Given the description of an element on the screen output the (x, y) to click on. 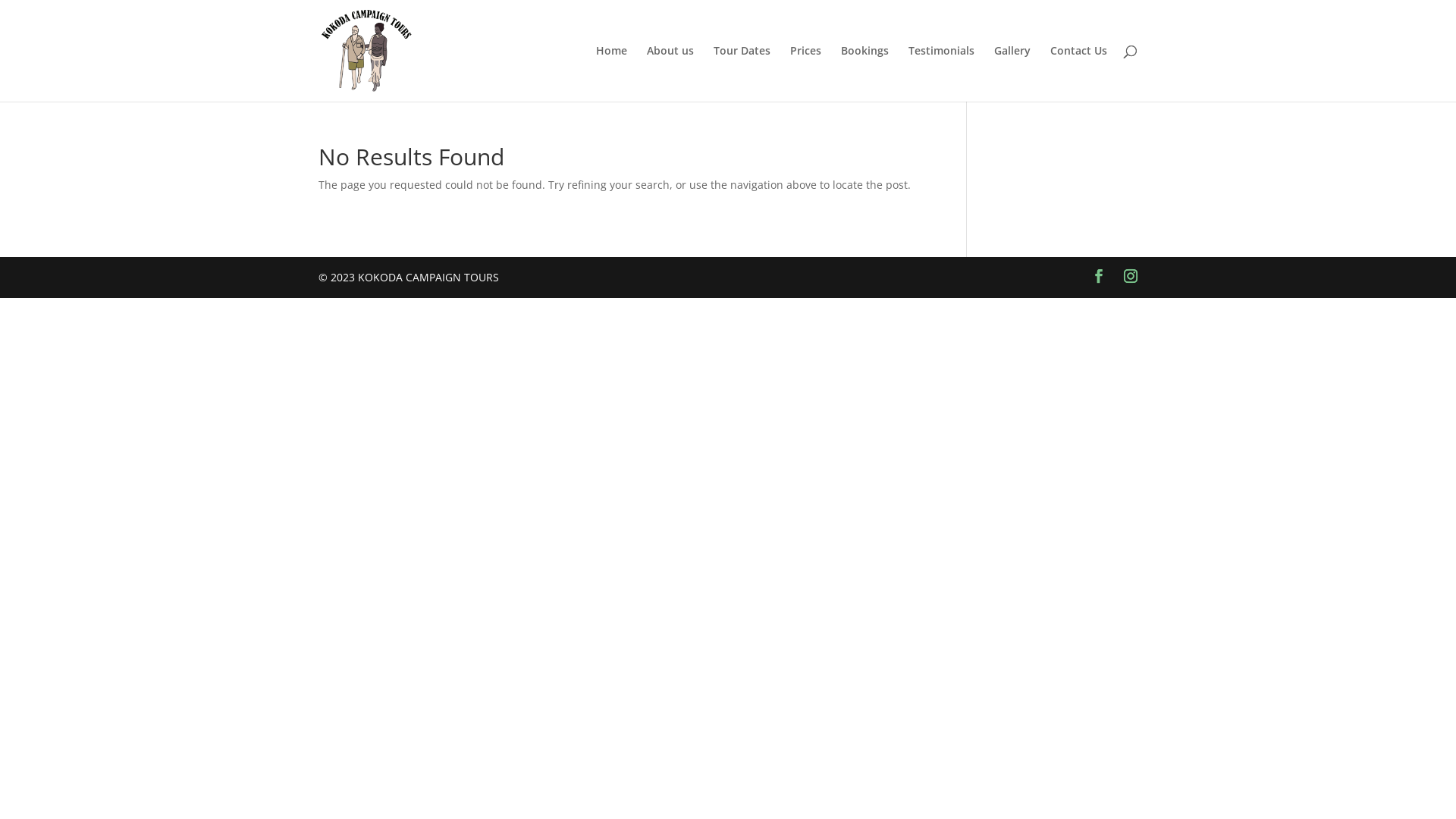
Prices Element type: text (805, 73)
Tour Dates Element type: text (741, 73)
Contact Us Element type: text (1078, 73)
Home Element type: text (611, 73)
Gallery Element type: text (1012, 73)
About us Element type: text (669, 73)
Bookings Element type: text (864, 73)
Testimonials Element type: text (941, 73)
